Given the description of an element on the screen output the (x, y) to click on. 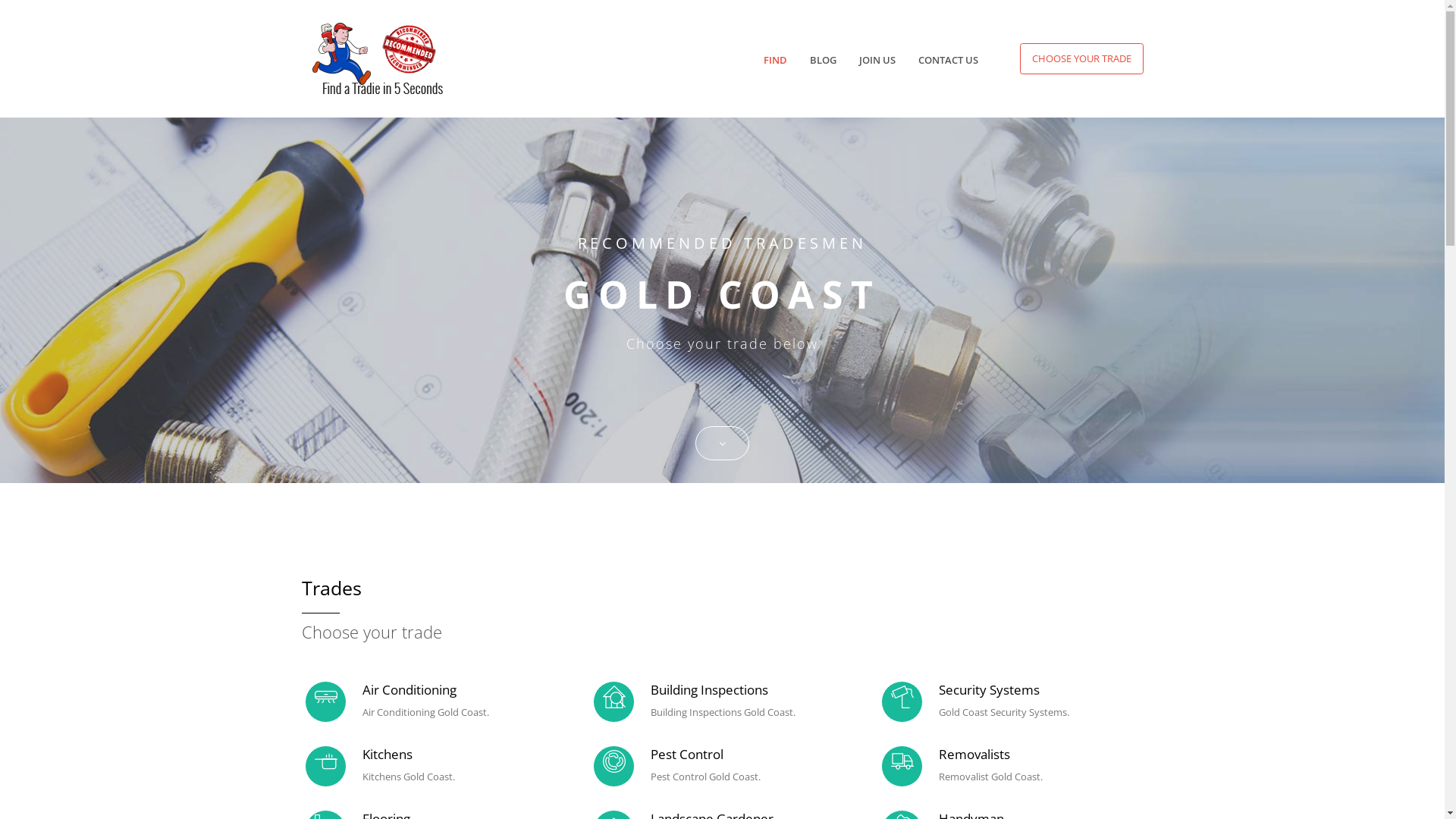
BLOG Element type: text (822, 60)
Security Systems Element type: text (988, 689)
Building Inspections Element type: text (709, 689)
FIND Element type: text (775, 60)
Pest Control Element type: text (686, 753)
Kitchens Element type: text (387, 753)
CONTACT US Element type: text (948, 60)
Air Conditioning Element type: text (409, 689)
JOIN US Element type: text (877, 60)
Removalists Element type: text (974, 753)
CHOOSE YOUR TRADE Element type: text (1080, 59)
  Element type: text (1, 490)
